Given the description of an element on the screen output the (x, y) to click on. 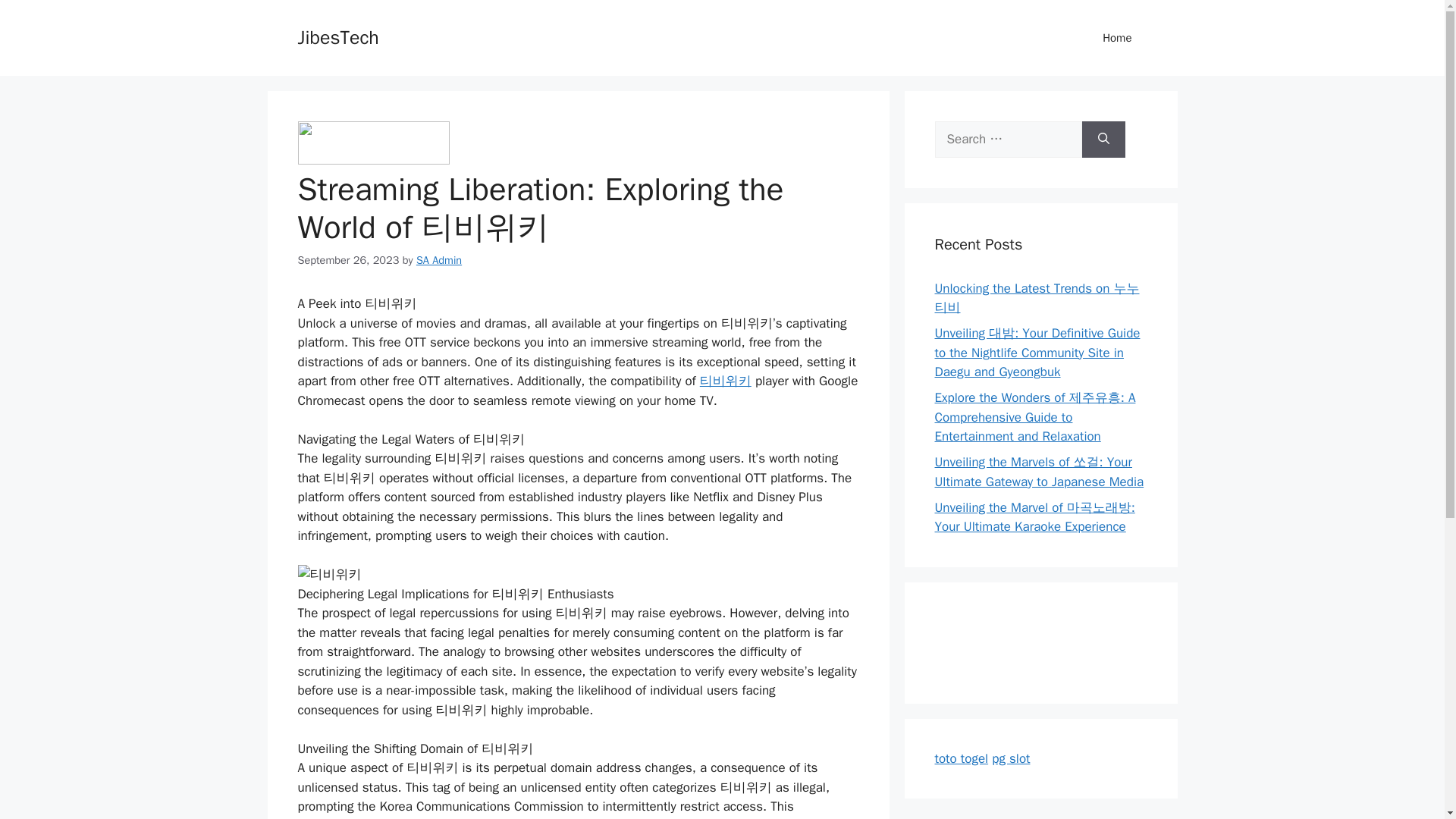
toto togel (961, 758)
Search for: (1007, 139)
SA Admin (438, 259)
pg slot (1010, 758)
Home (1117, 37)
View all posts by SA Admin (438, 259)
JibesTech (337, 37)
